Given the description of an element on the screen output the (x, y) to click on. 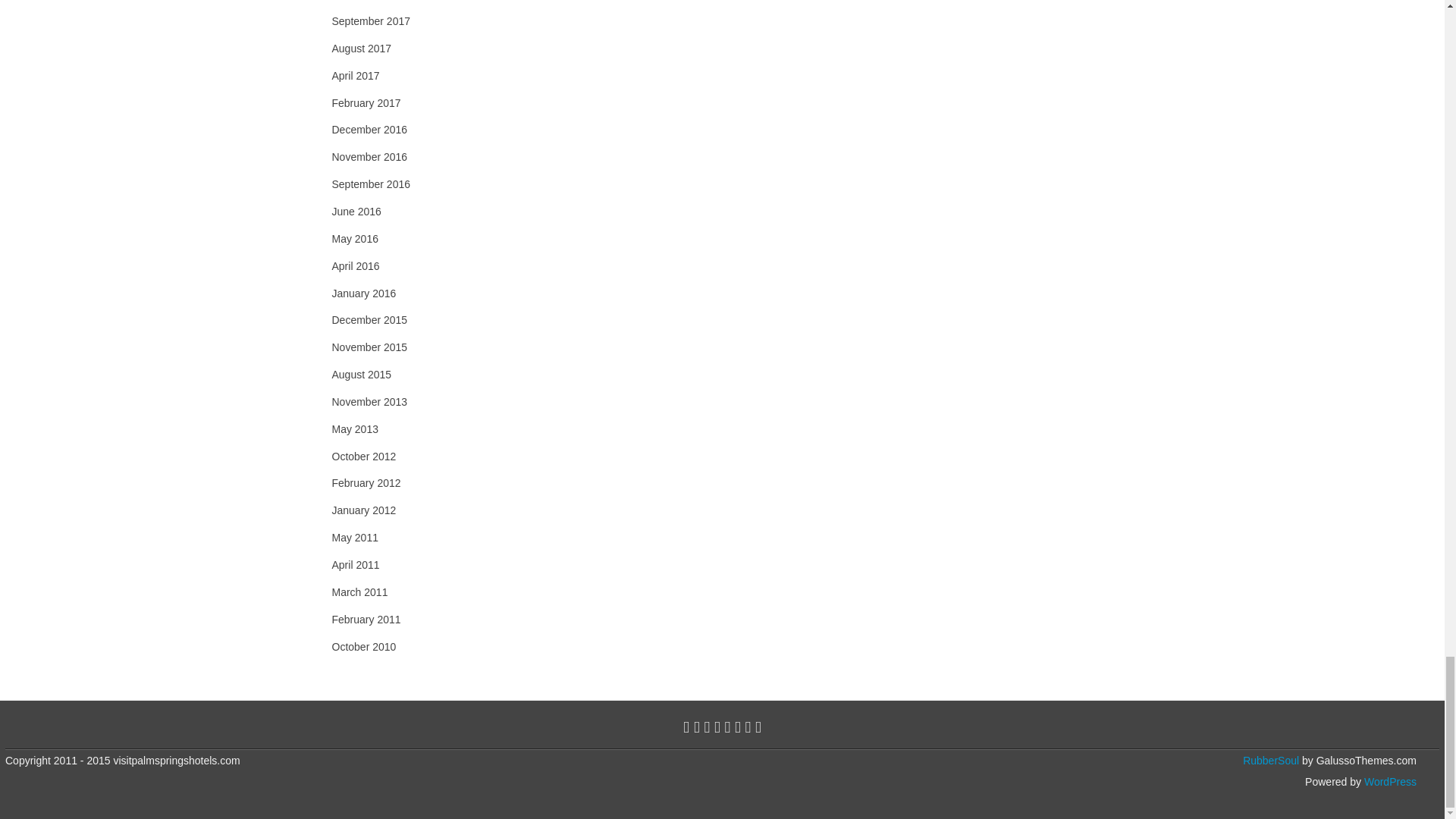
Facebook (697, 726)
YouTube (726, 726)
Twitter (685, 726)
LinkedIn (717, 726)
